Given the description of an element on the screen output the (x, y) to click on. 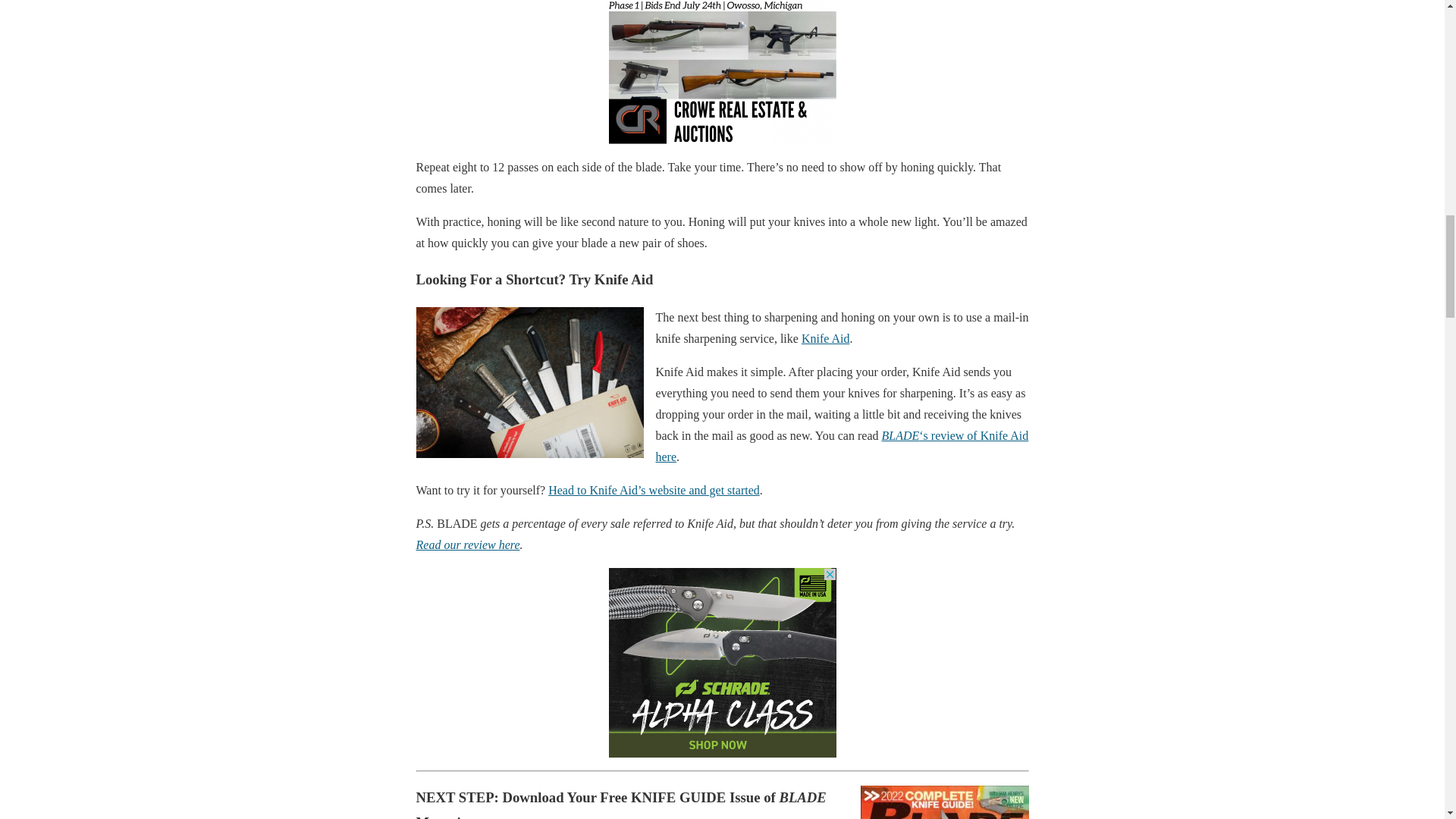
3rd party ad content (721, 662)
3rd party ad content (721, 72)
Knife Aid (826, 338)
Read our review here (466, 544)
